Given the description of an element on the screen output the (x, y) to click on. 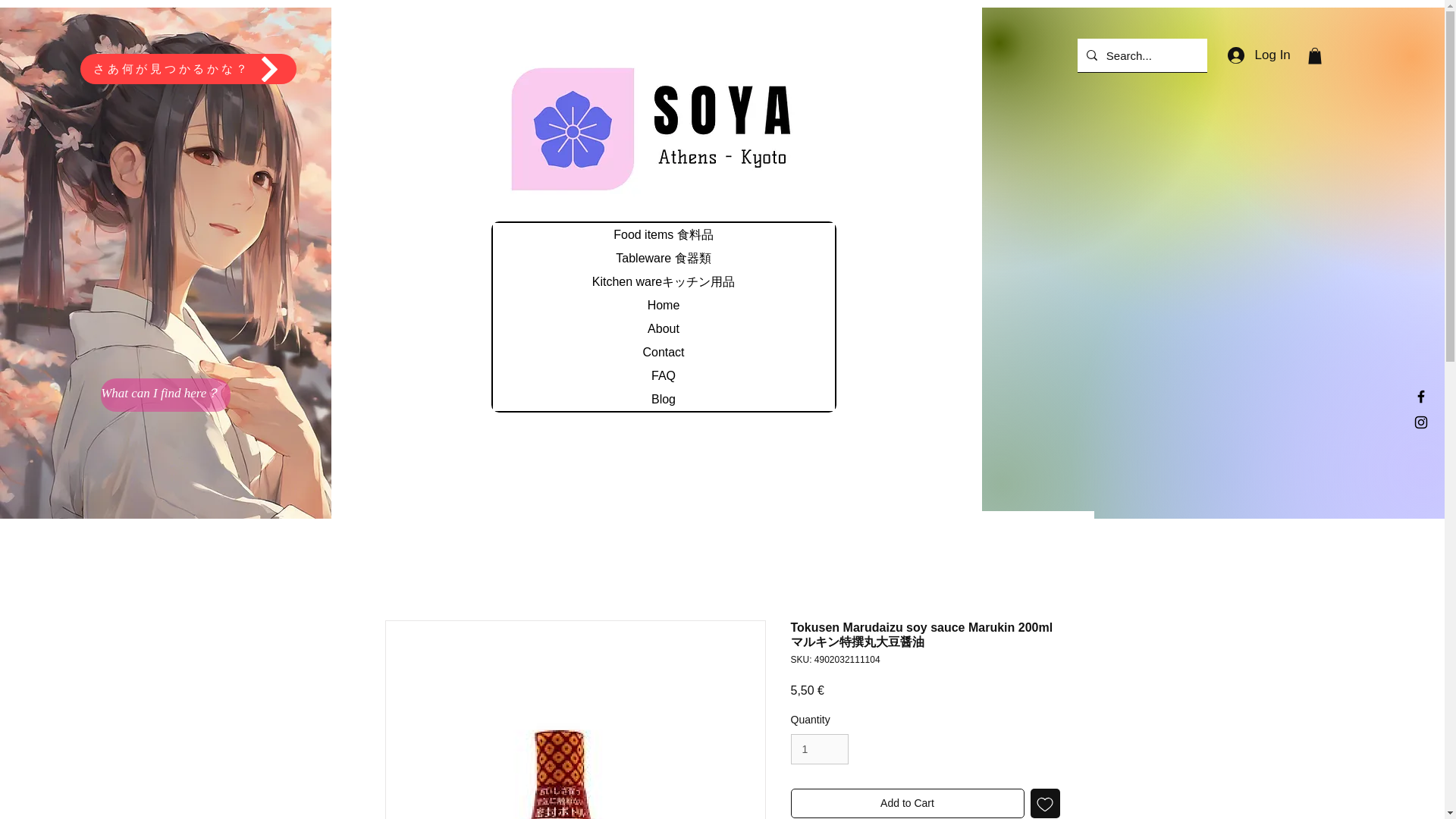
1 (818, 748)
Home (663, 304)
FAQ (663, 375)
Add to Cart (906, 803)
About (663, 328)
Contact (663, 351)
Log In (1259, 54)
Blog (663, 399)
